Given the description of an element on the screen output the (x, y) to click on. 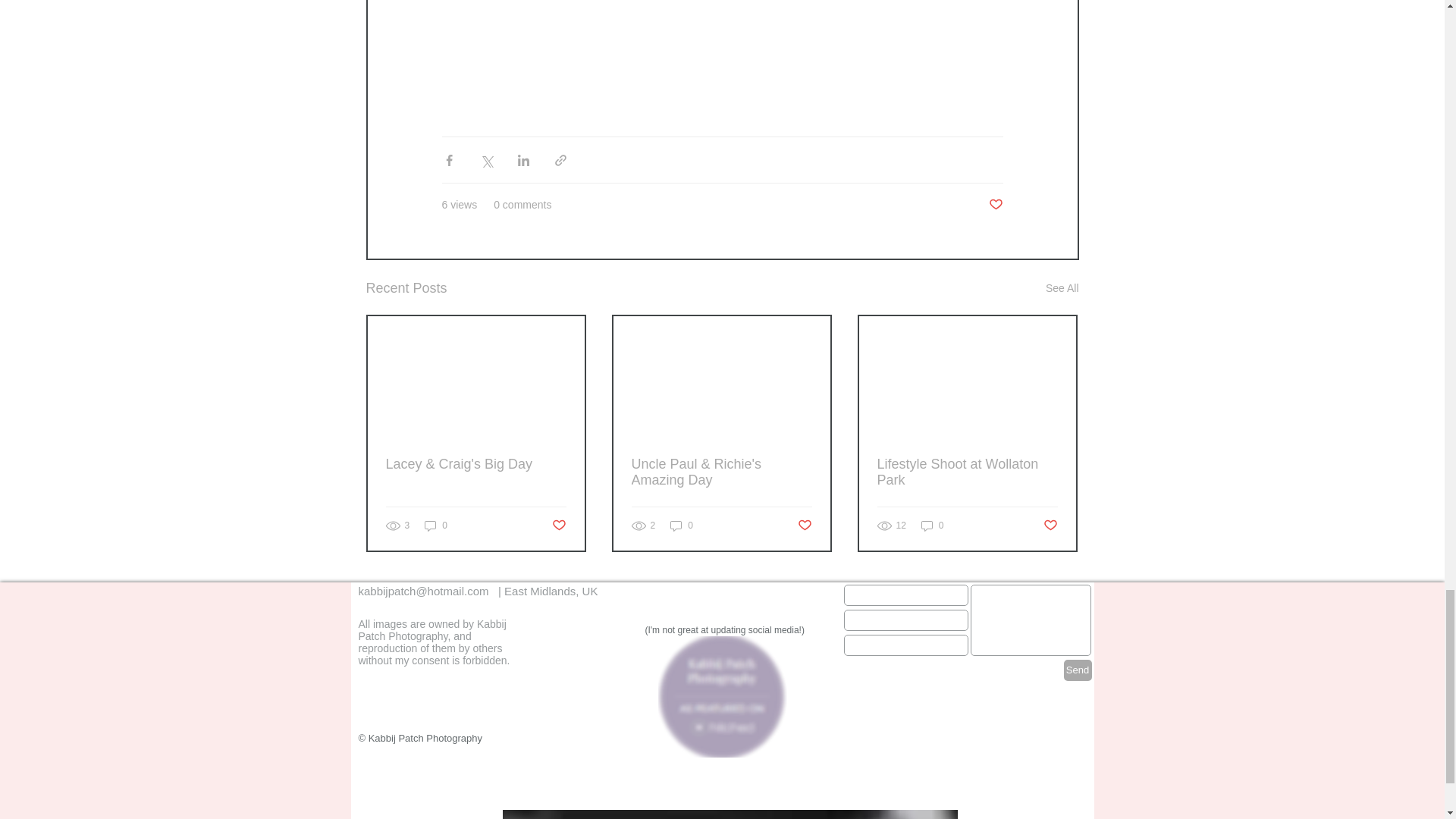
Post not marked as liked (804, 525)
0 (435, 525)
Post not marked as liked (1050, 525)
0 (681, 525)
Post not marked as liked (558, 525)
Hitched.png (722, 696)
0 (932, 525)
Post not marked as liked (995, 204)
Send (1076, 670)
Lifestyle Shoot at Wollaton Park (966, 472)
See All (1061, 288)
